Given the description of an element on the screen output the (x, y) to click on. 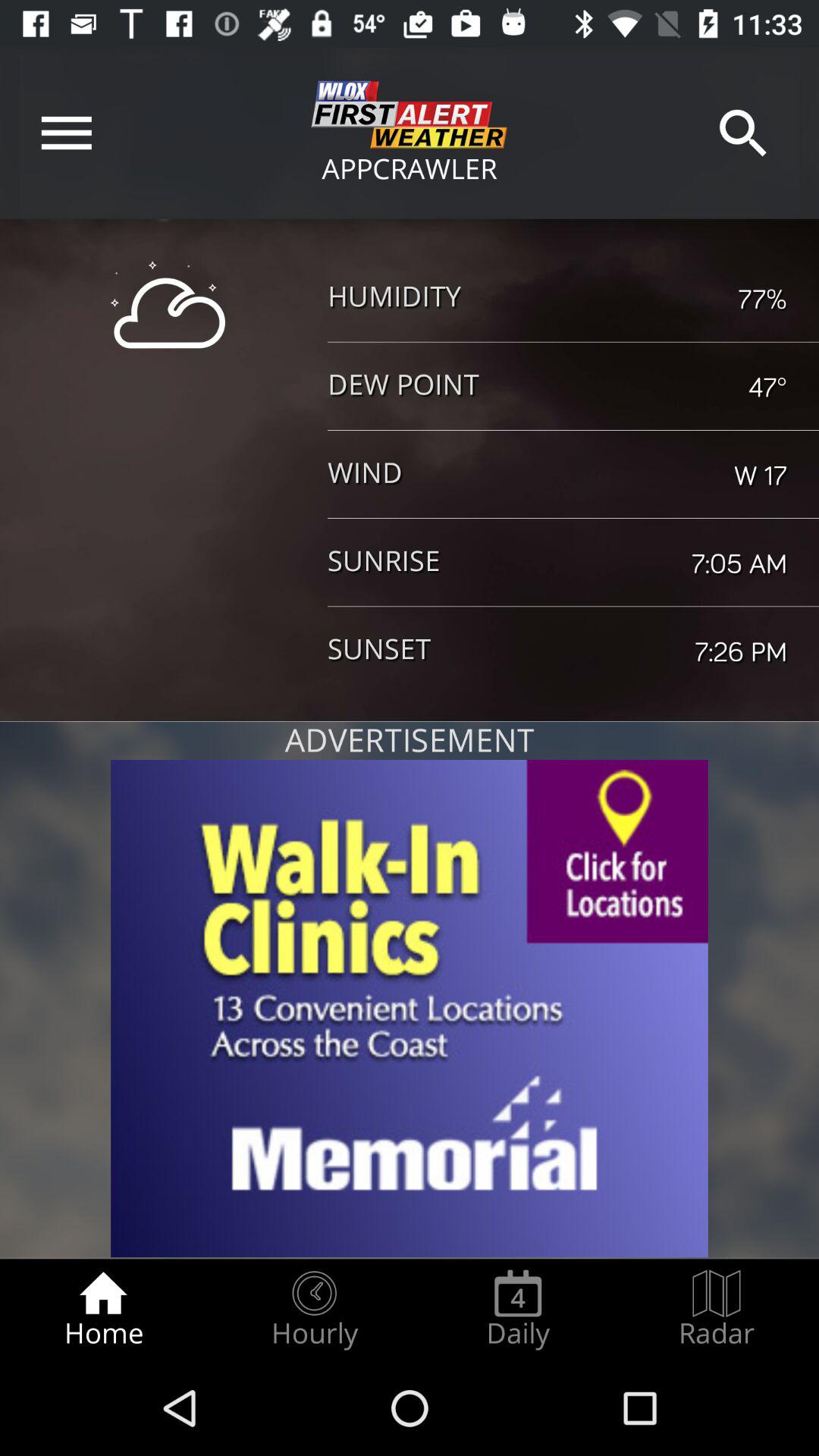
launch radio button to the left of hourly (103, 1309)
